Given the description of an element on the screen output the (x, y) to click on. 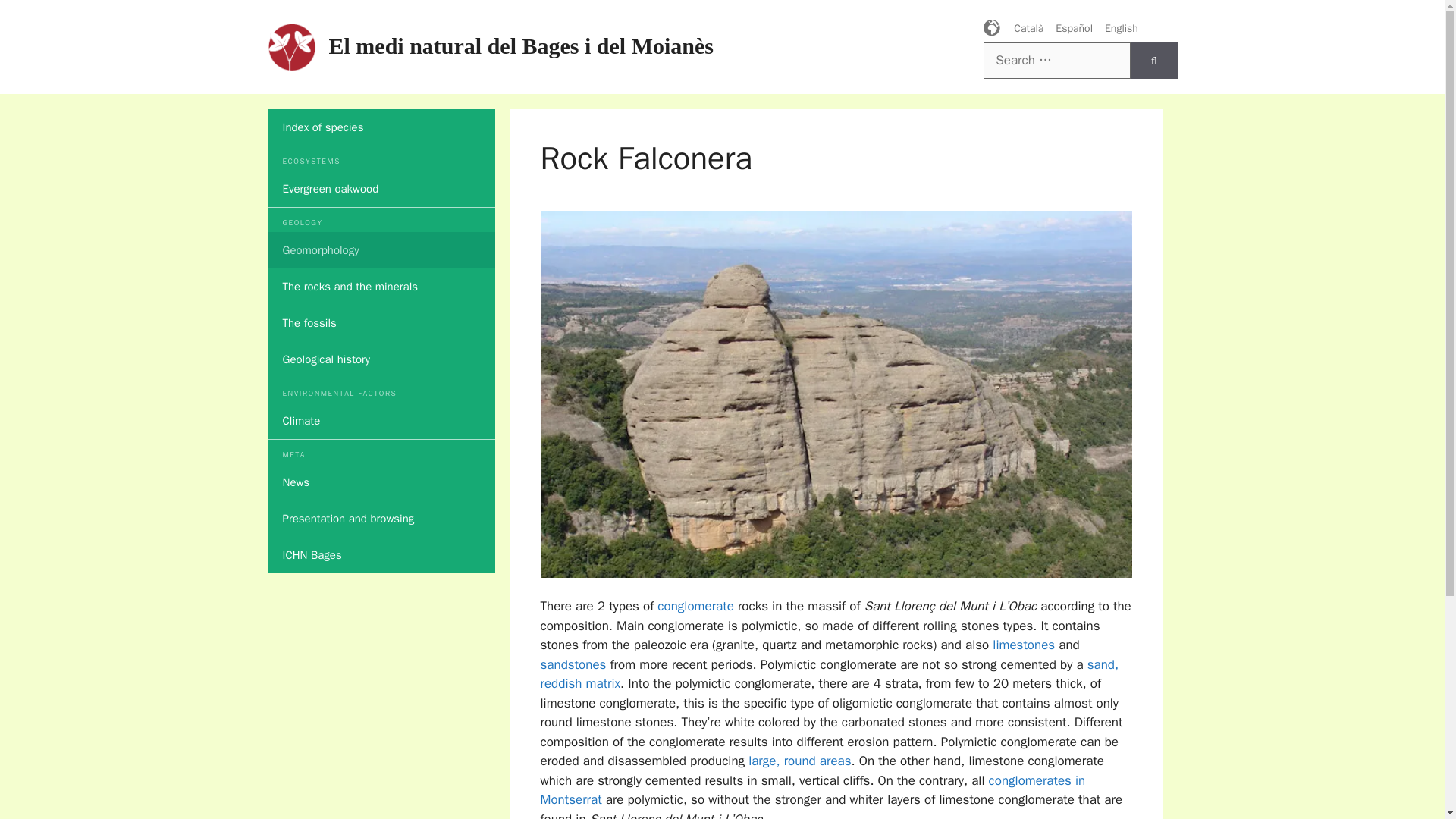
limestones (1023, 644)
sand, reddish matrix (829, 674)
GEOLOGY (380, 221)
conglomerates in Montserrat (812, 790)
Index of species (380, 126)
conglomerate (695, 606)
Search for: (1057, 60)
large, round areas (799, 760)
Geomorphology (380, 249)
English (1115, 28)
ECOSYSTEMS (380, 160)
sandstones (572, 664)
Evergreen oakwood (380, 187)
